Given the description of an element on the screen output the (x, y) to click on. 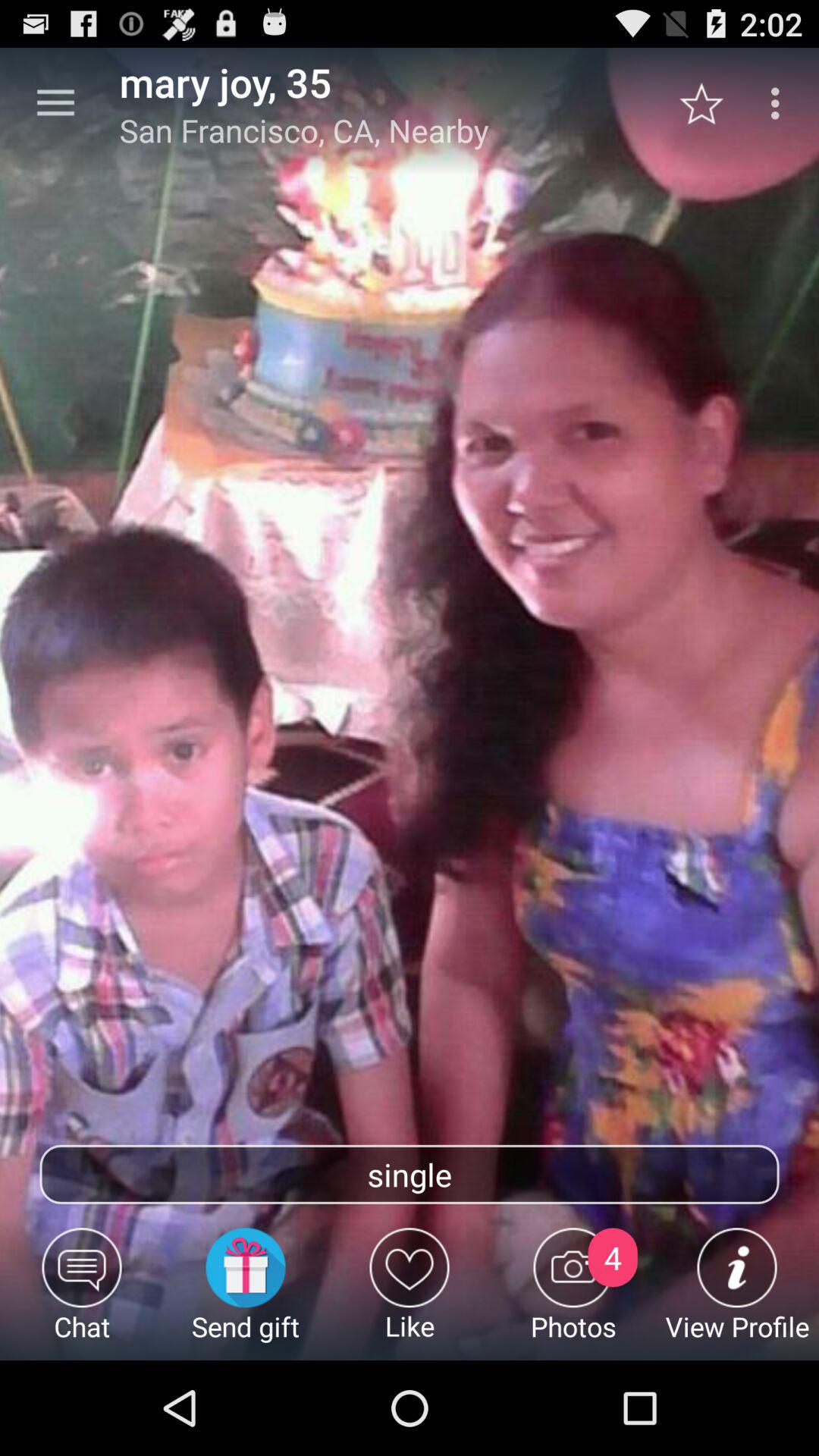
flip to chat (81, 1293)
